Given the description of an element on the screen output the (x, y) to click on. 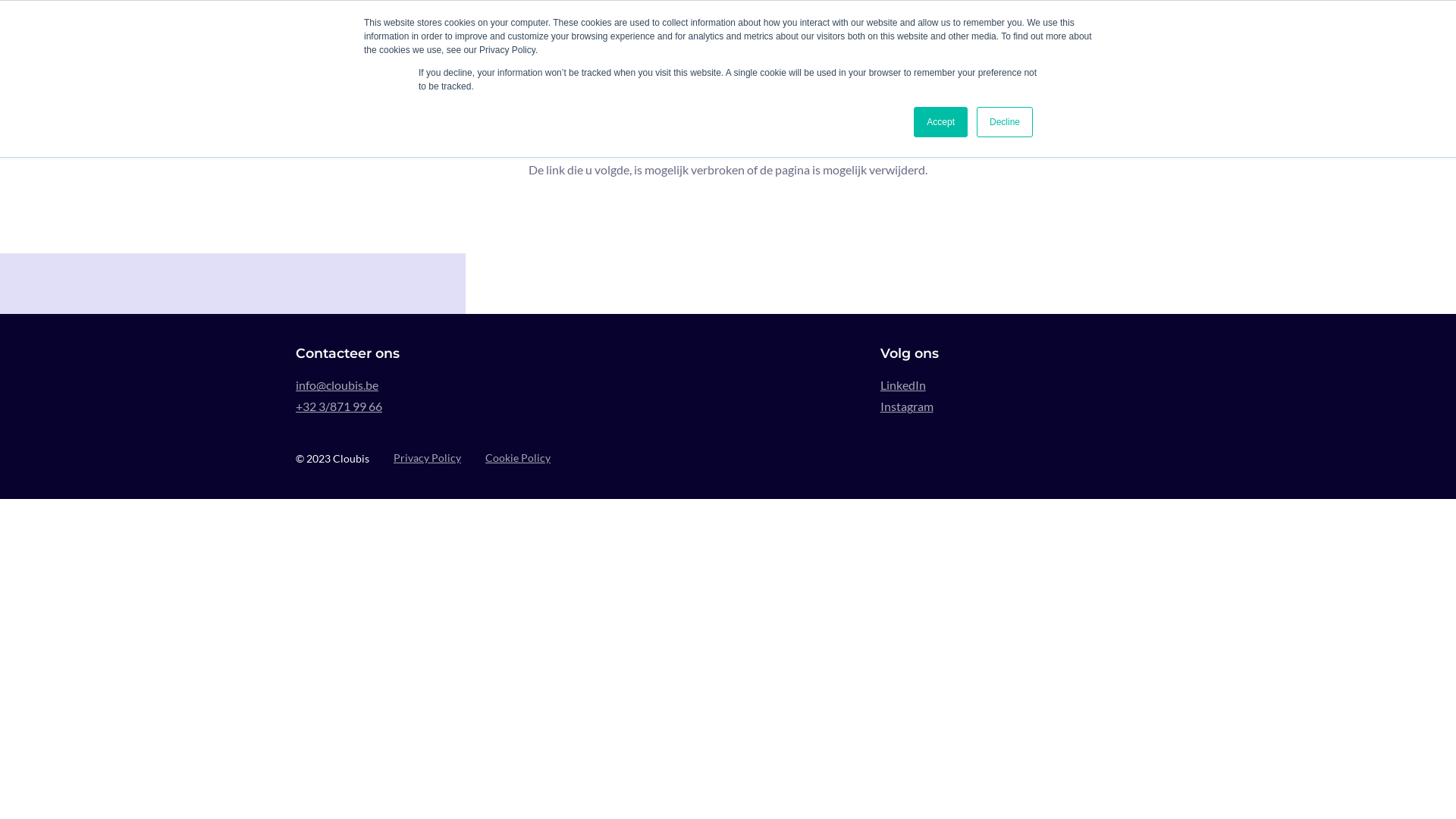
Instagram Element type: text (1020, 406)
NL Element type: text (1149, 30)
Cookie Policy Element type: text (517, 457)
Decline Element type: text (1004, 121)
LinkedIn Element type: text (1020, 384)
+32 3/871 99 66 Element type: text (435, 406)
Privacy Policy Element type: text (427, 457)
Over ons Element type: text (716, 29)
Accept Element type: text (940, 121)
Cases Element type: text (923, 29)
Contacteer ons Element type: text (1072, 29)
Expertise Element type: text (790, 29)
Blog Element type: text (977, 29)
info@cloubis.be Element type: text (435, 384)
Jobs
4 Element type: text (861, 29)
NL Element type: text (1149, 29)
